Given the description of an element on the screen output the (x, y) to click on. 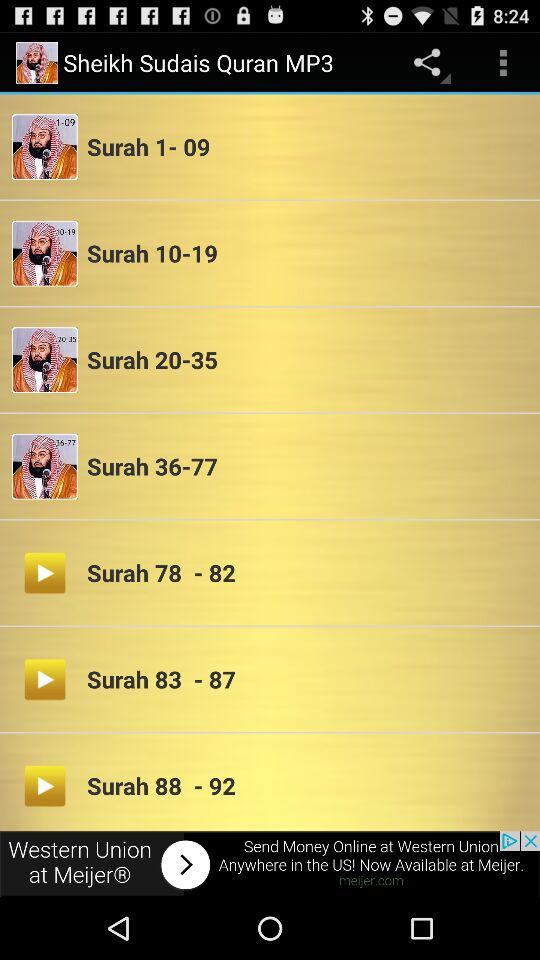
advertisement link (270, 864)
